Given the description of an element on the screen output the (x, y) to click on. 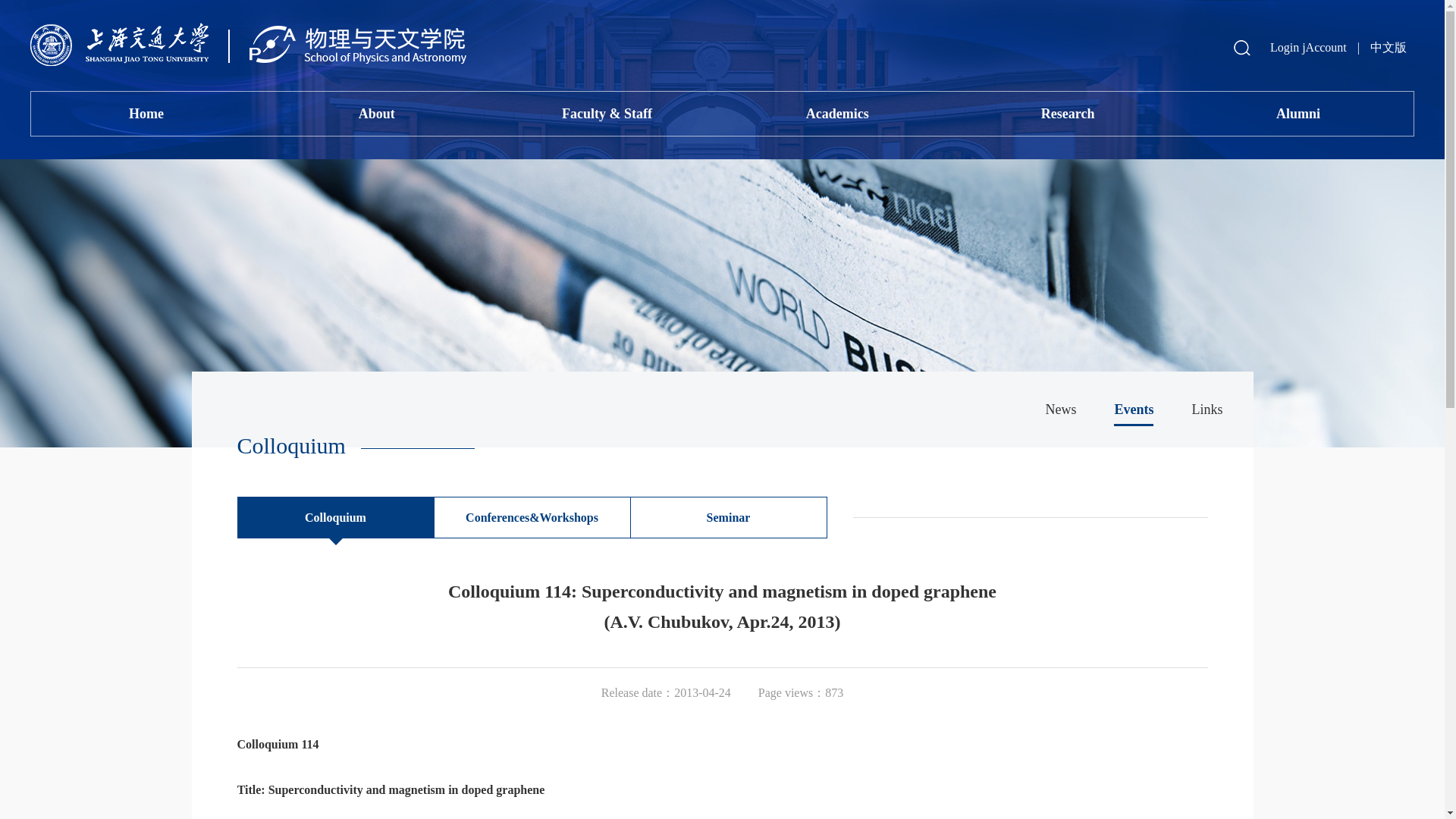
Alumni (1297, 113)
Links (1207, 409)
Academics (837, 113)
Research (1067, 113)
Login jAccount (1307, 47)
News (1060, 409)
Events (1133, 409)
Home (146, 113)
About (377, 113)
